Given the description of an element on the screen output the (x, y) to click on. 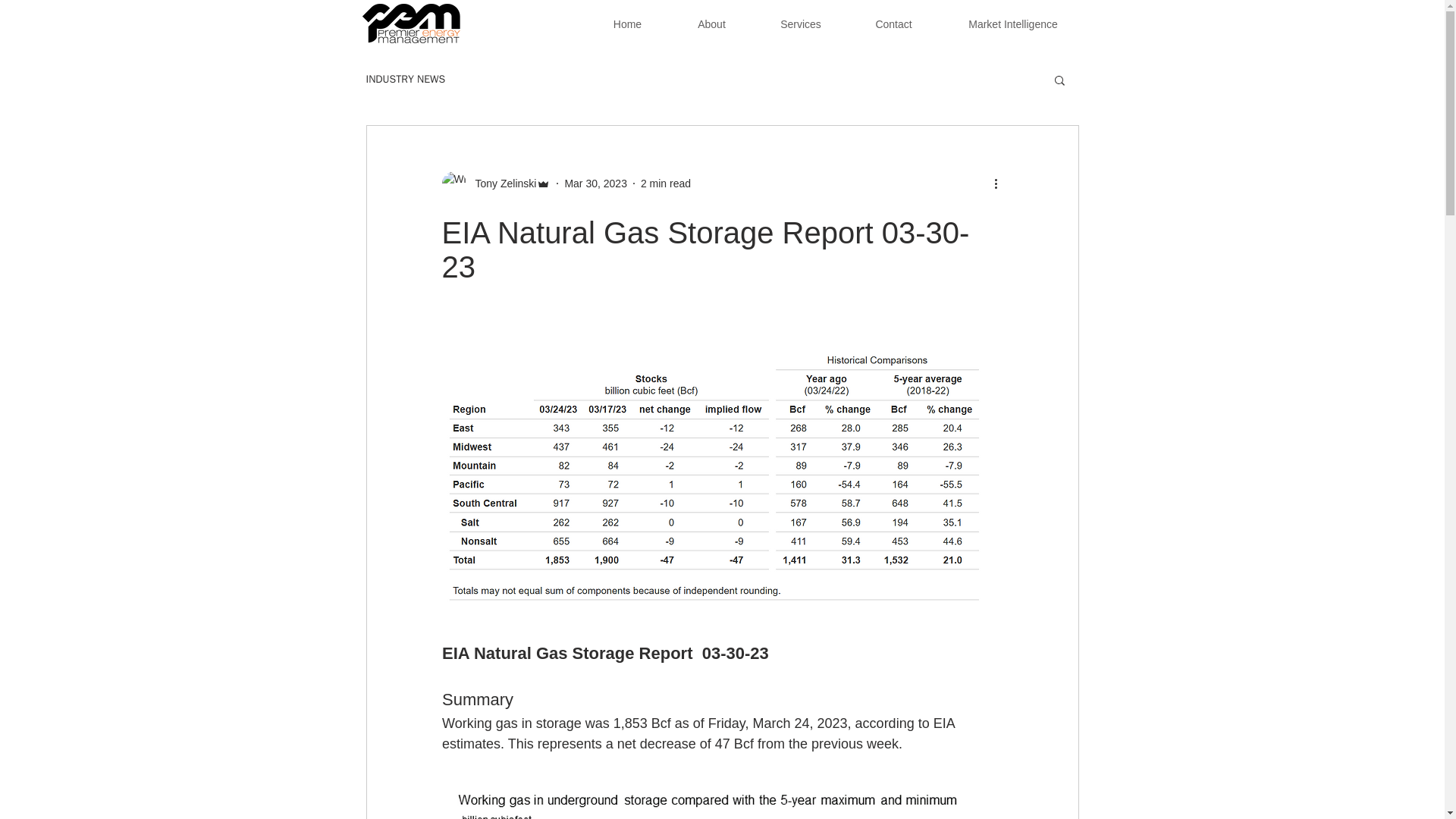
Mar 30, 2023 (595, 183)
Services (800, 24)
2 min read (665, 183)
Home (626, 24)
Premier Energy Management - planning requires knowledge (411, 23)
Tony Zelinski (500, 183)
INDUSTRY NEWS (405, 79)
Contact (893, 24)
About (711, 24)
Market Intelligence (1013, 24)
